Given the description of an element on the screen output the (x, y) to click on. 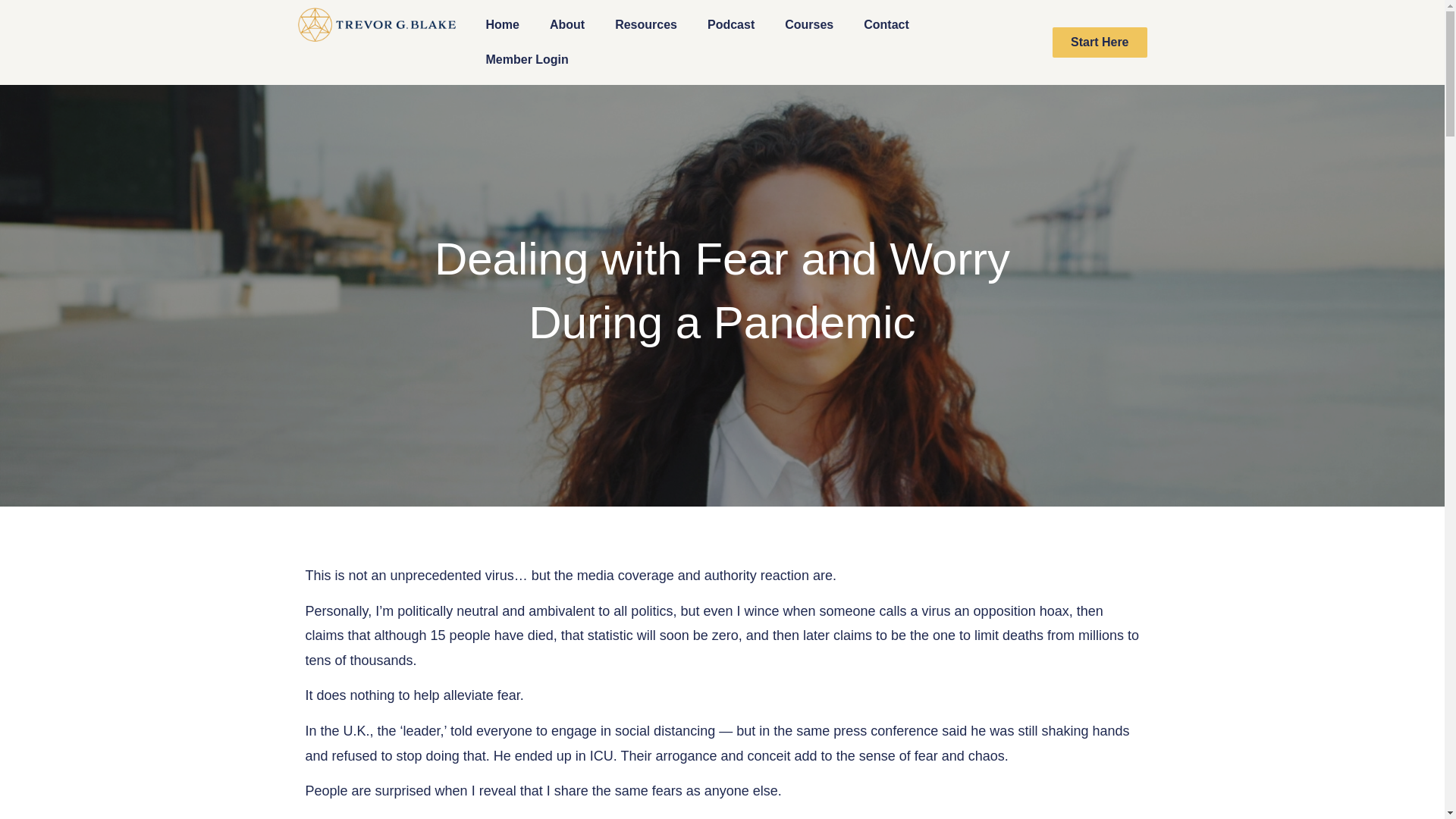
Home (502, 24)
Member Login (526, 59)
Contact (886, 24)
About (566, 24)
Courses (809, 24)
Resources (646, 24)
Podcast (731, 24)
Start Here (1099, 42)
